Given the description of an element on the screen output the (x, y) to click on. 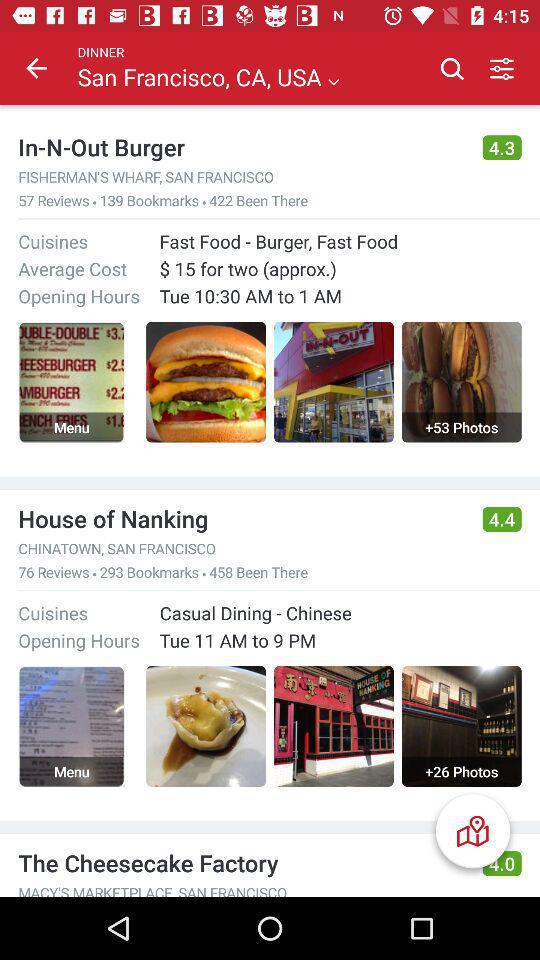
scroll until the +53 photos (461, 427)
